Given the description of an element on the screen output the (x, y) to click on. 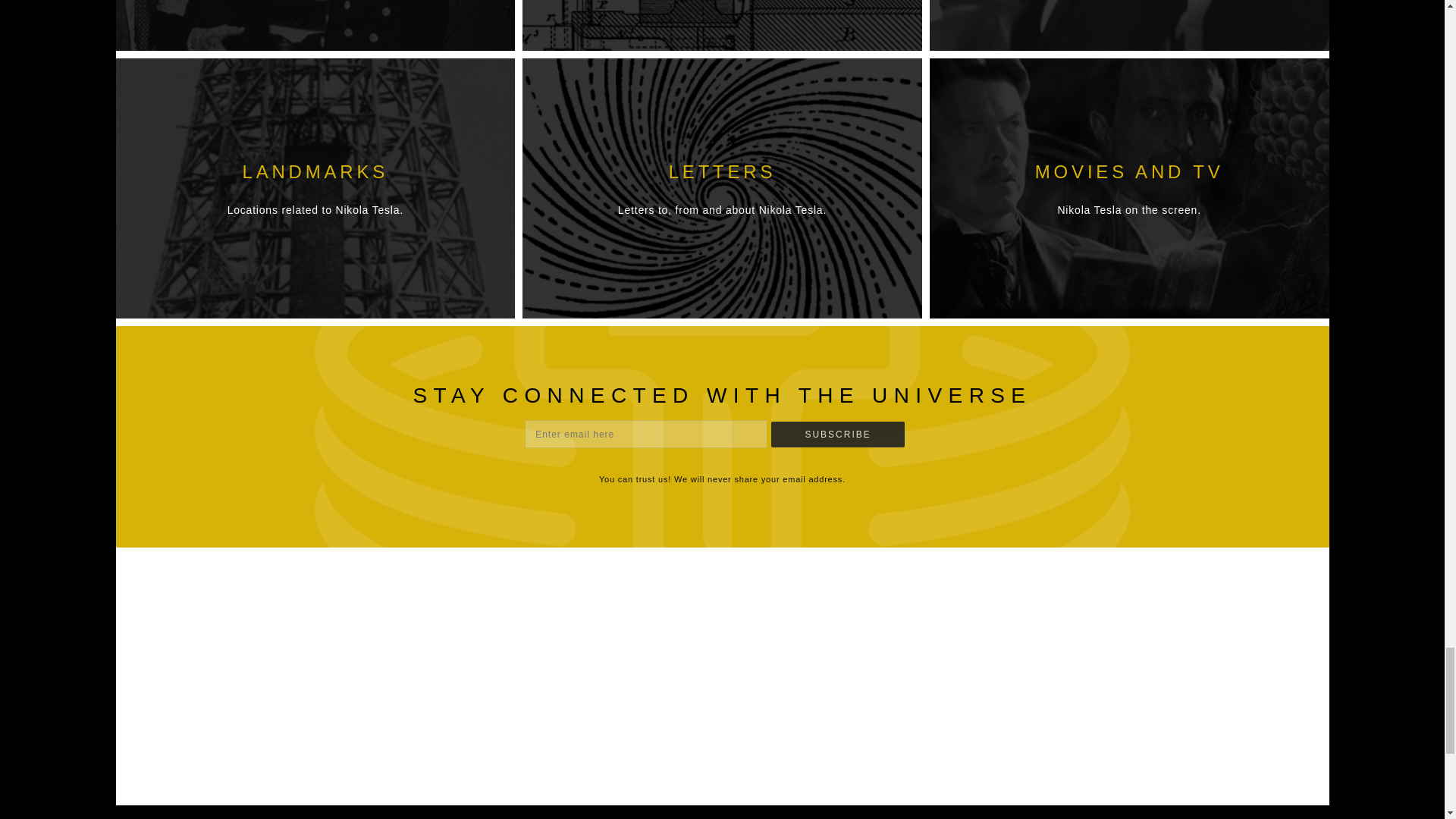
Subscribe (837, 434)
